Given the description of an element on the screen output the (x, y) to click on. 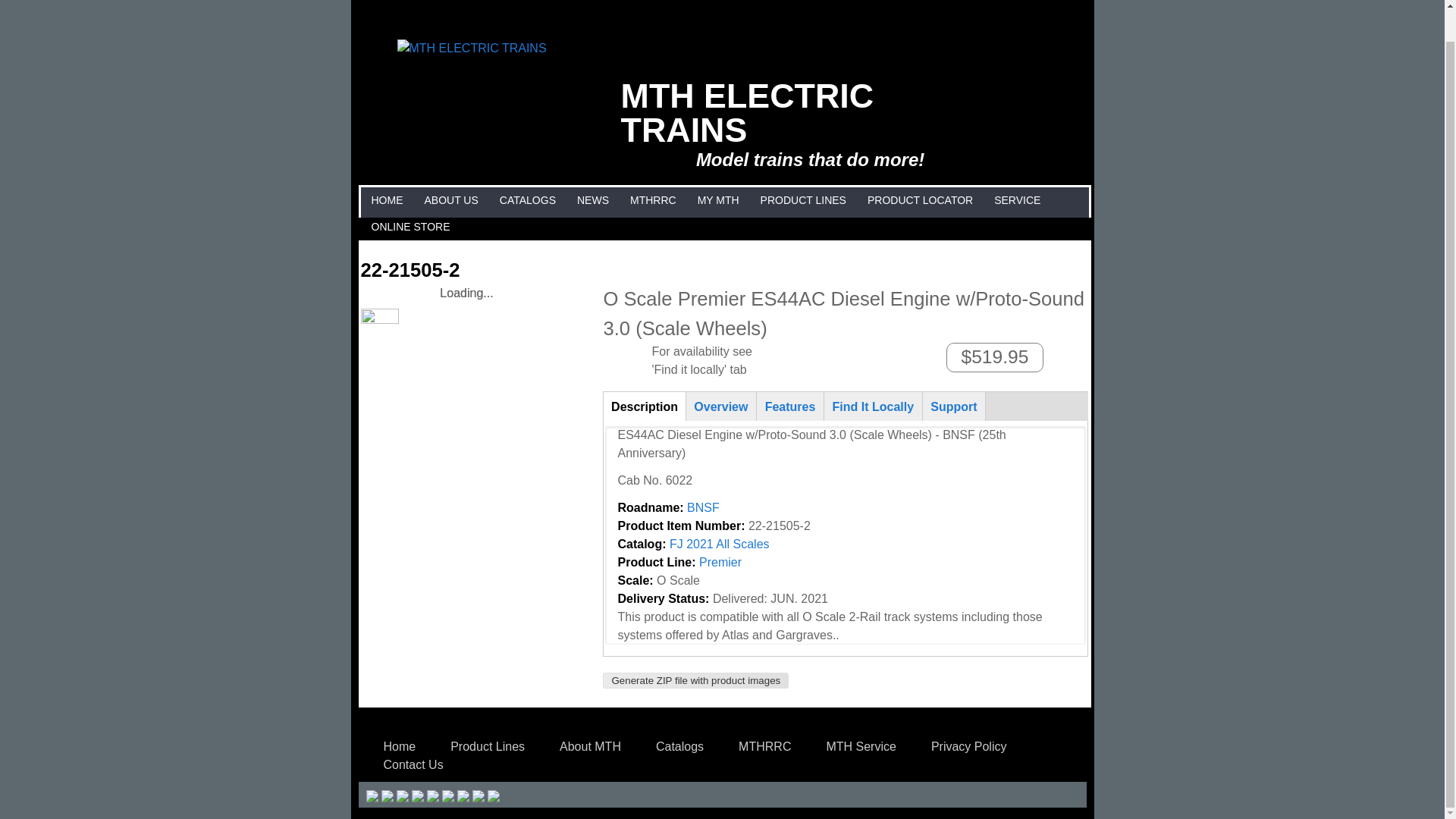
ABOUT US (451, 200)
HOME (386, 200)
SERVICE (1016, 200)
MY MTH (718, 200)
MTHRRC (652, 200)
CATALOGS (527, 200)
Features (789, 406)
NEWS (593, 200)
Generate ZIP file with product images (695, 680)
MTH ELECTRIC TRAINS (472, 47)
MTH ELECTRIC TRAINS (747, 112)
PRODUCT LOCATOR (919, 200)
PRODUCT LINES (803, 200)
ONLINE STORE (409, 226)
Overview (721, 406)
